Given the description of an element on the screen output the (x, y) to click on. 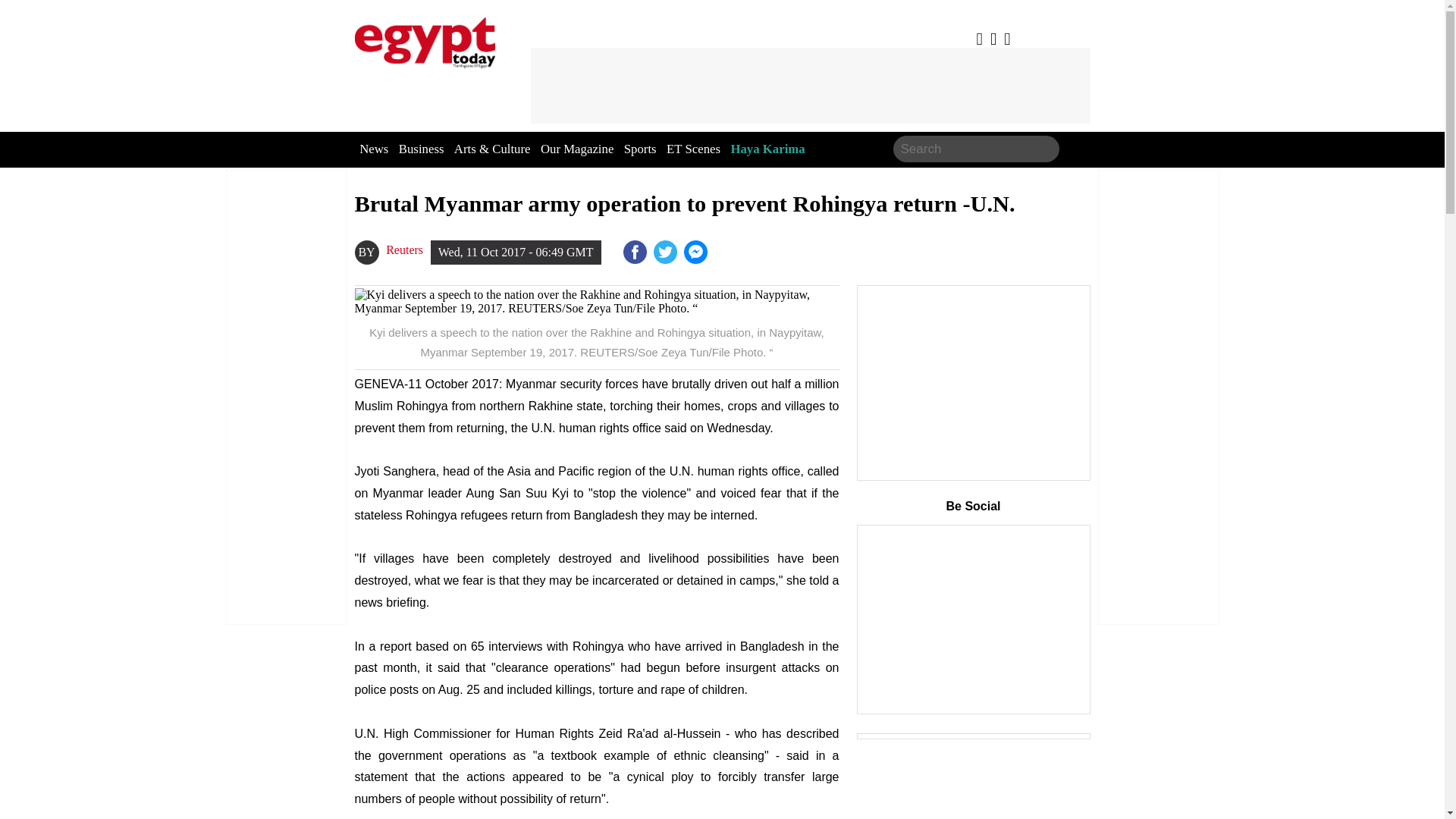
Reuters (404, 250)
Business (421, 149)
Sports (640, 149)
EgyptToday (425, 39)
Sisi heads to Guinea first destination in overseas tour (697, 251)
Haya Karima (767, 149)
ET Scenes (693, 149)
Our Magazine (576, 149)
